Given the description of an element on the screen output the (x, y) to click on. 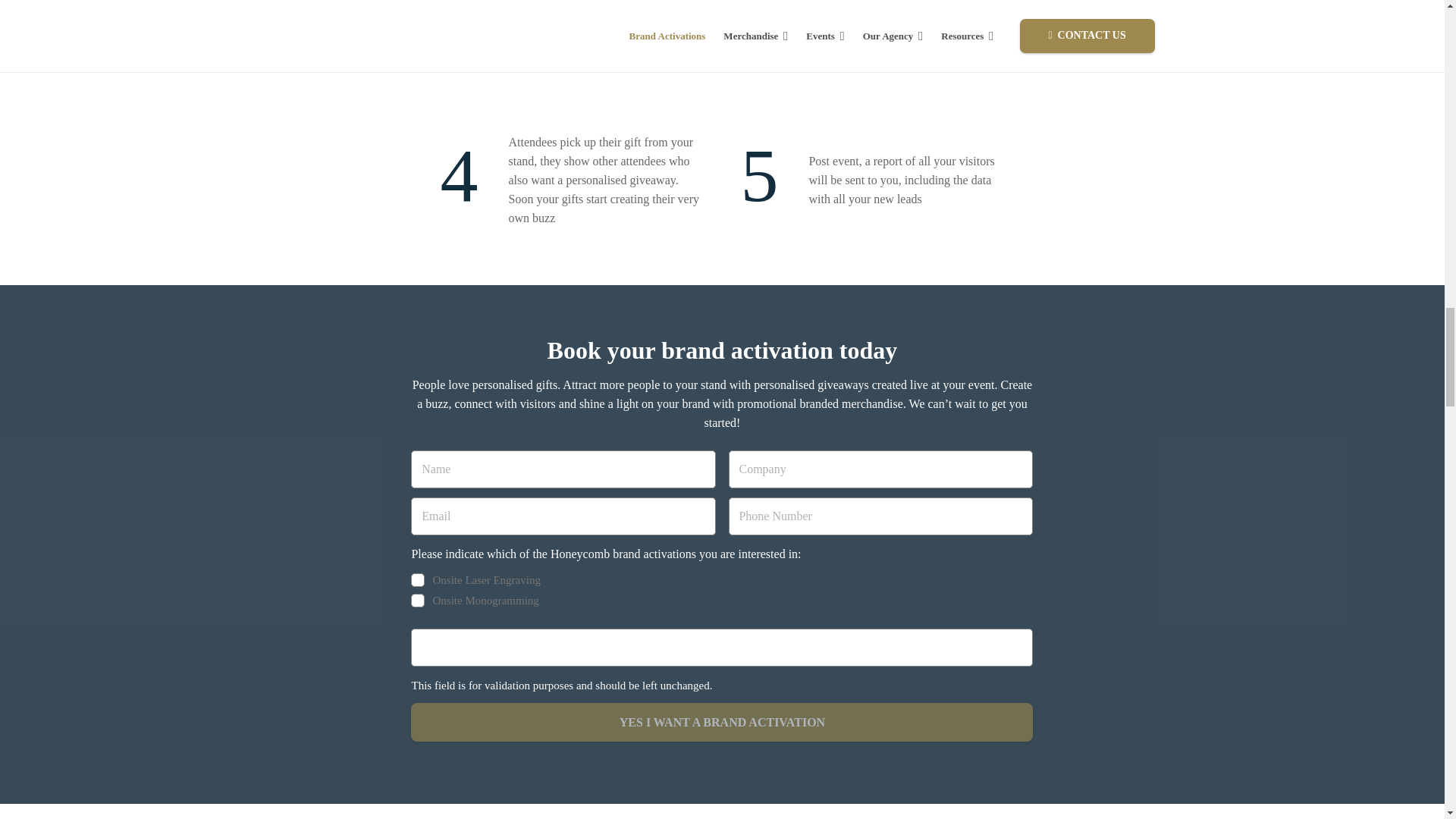
Onsite Laser Engraving (417, 580)
Onsite Monogramming (417, 600)
Yes I want a brand activation (721, 722)
Yes I want a brand activation (721, 722)
